Given the description of an element on the screen output the (x, y) to click on. 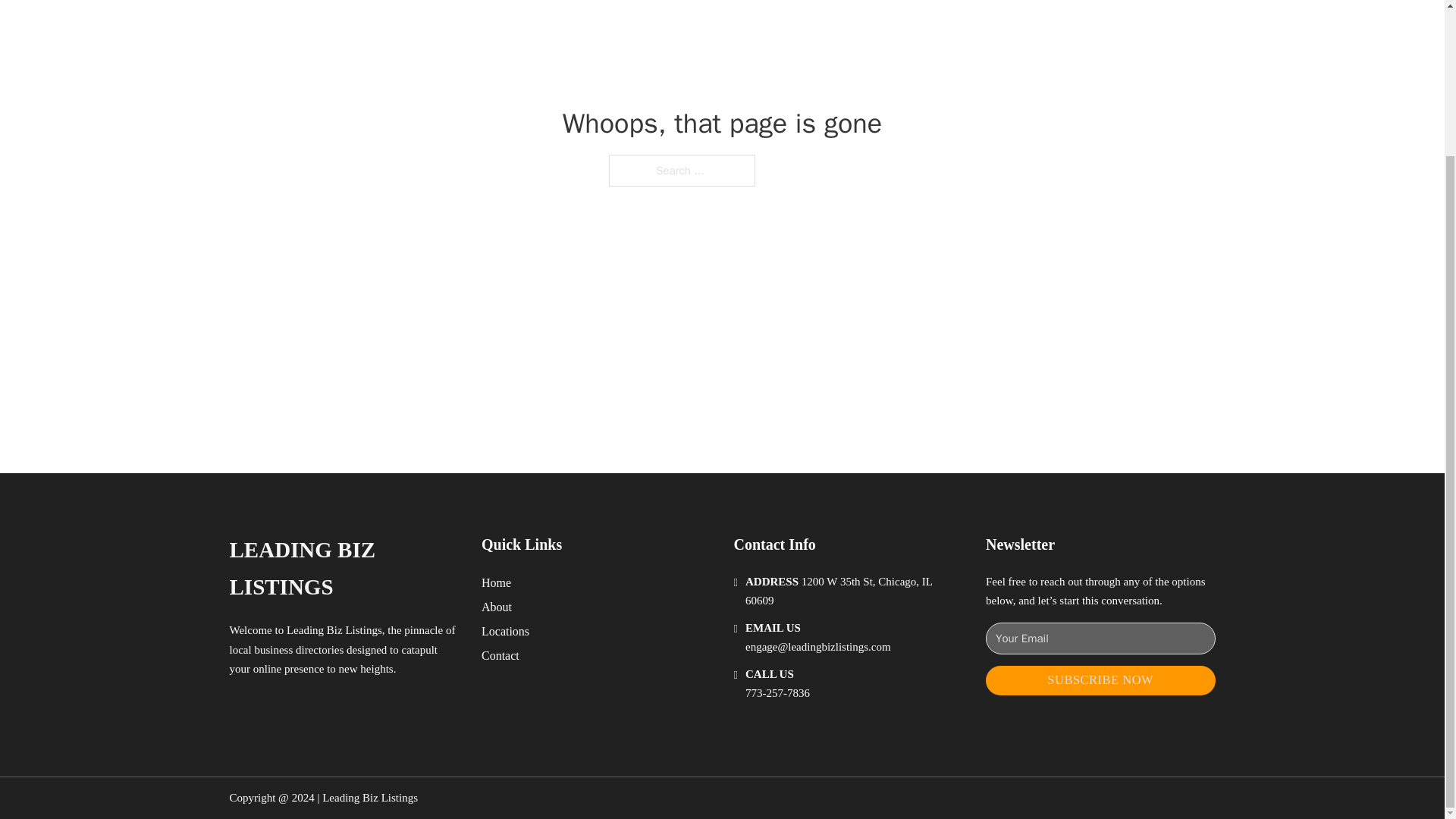
About (496, 607)
773-257-7836 (777, 693)
SUBSCRIBE NOW (1100, 680)
LEADING BIZ LISTINGS (343, 568)
Contact (500, 655)
Locations (505, 630)
Home (496, 582)
